Given the description of an element on the screen output the (x, y) to click on. 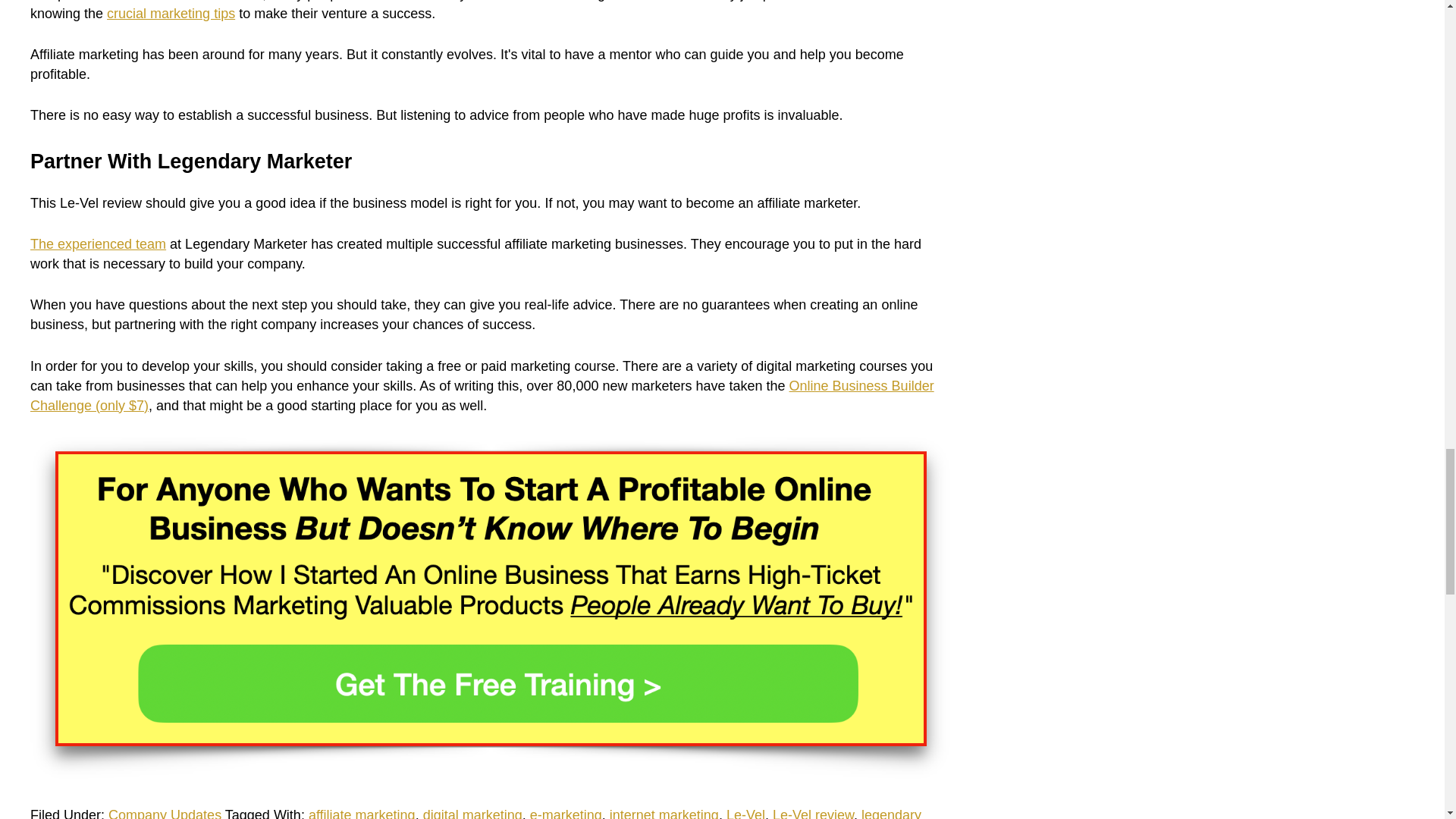
Company Updates (164, 813)
e-marketing (565, 813)
The experienced team (97, 243)
digital marketing (472, 813)
internet marketing (664, 813)
crucial marketing tips (170, 13)
Le-Vel (745, 813)
affiliate marketing (361, 813)
legendary marketer (475, 813)
Le-Vel review (813, 813)
